Given the description of an element on the screen output the (x, y) to click on. 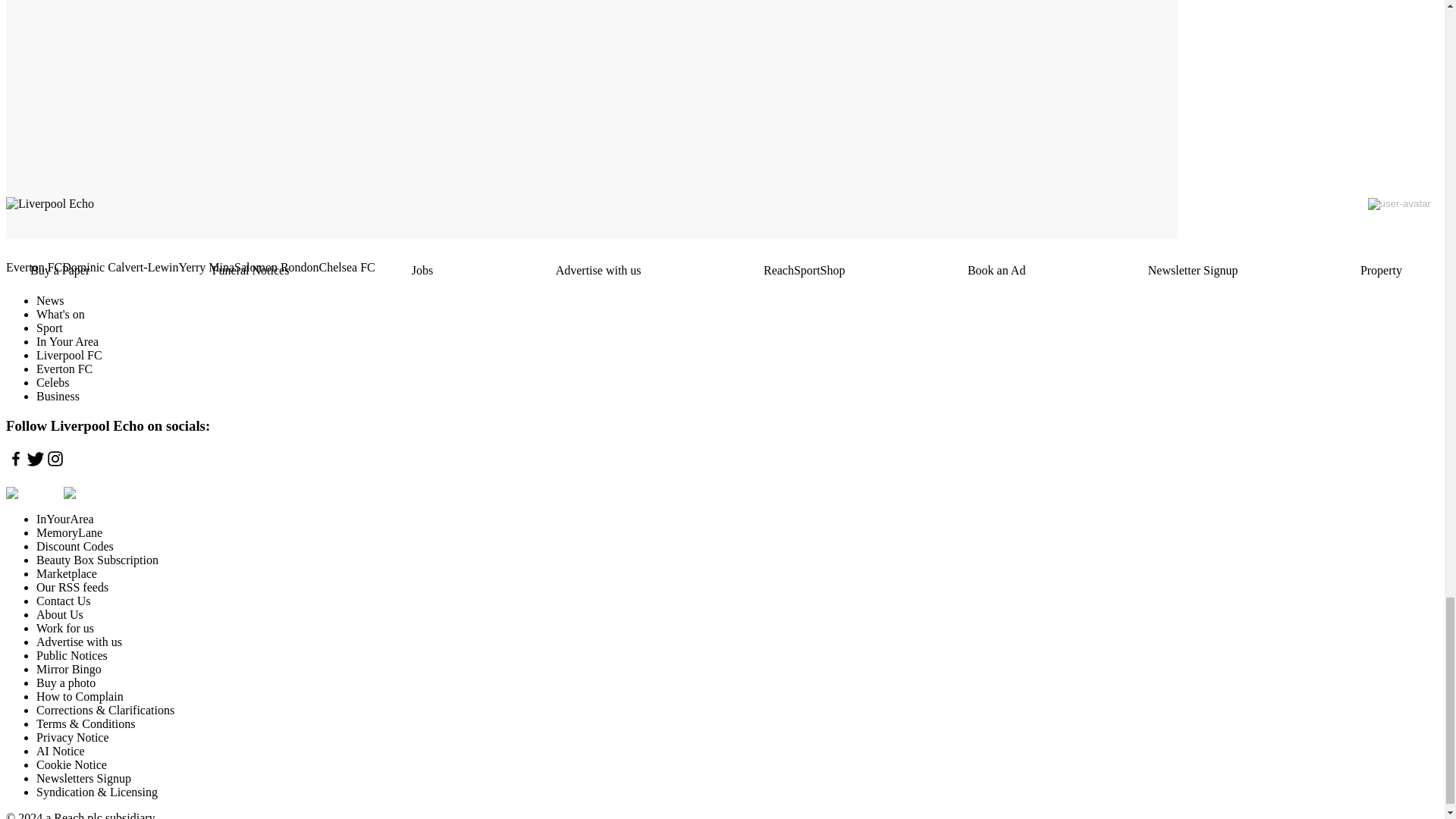
Yerry Mina (206, 267)
Everton FC (33, 267)
Chelsea FC (346, 267)
News (50, 300)
Salomon Rondon (276, 267)
What's on (60, 314)
Dominic Calvert-Lewin (119, 267)
